Given the description of an element on the screen output the (x, y) to click on. 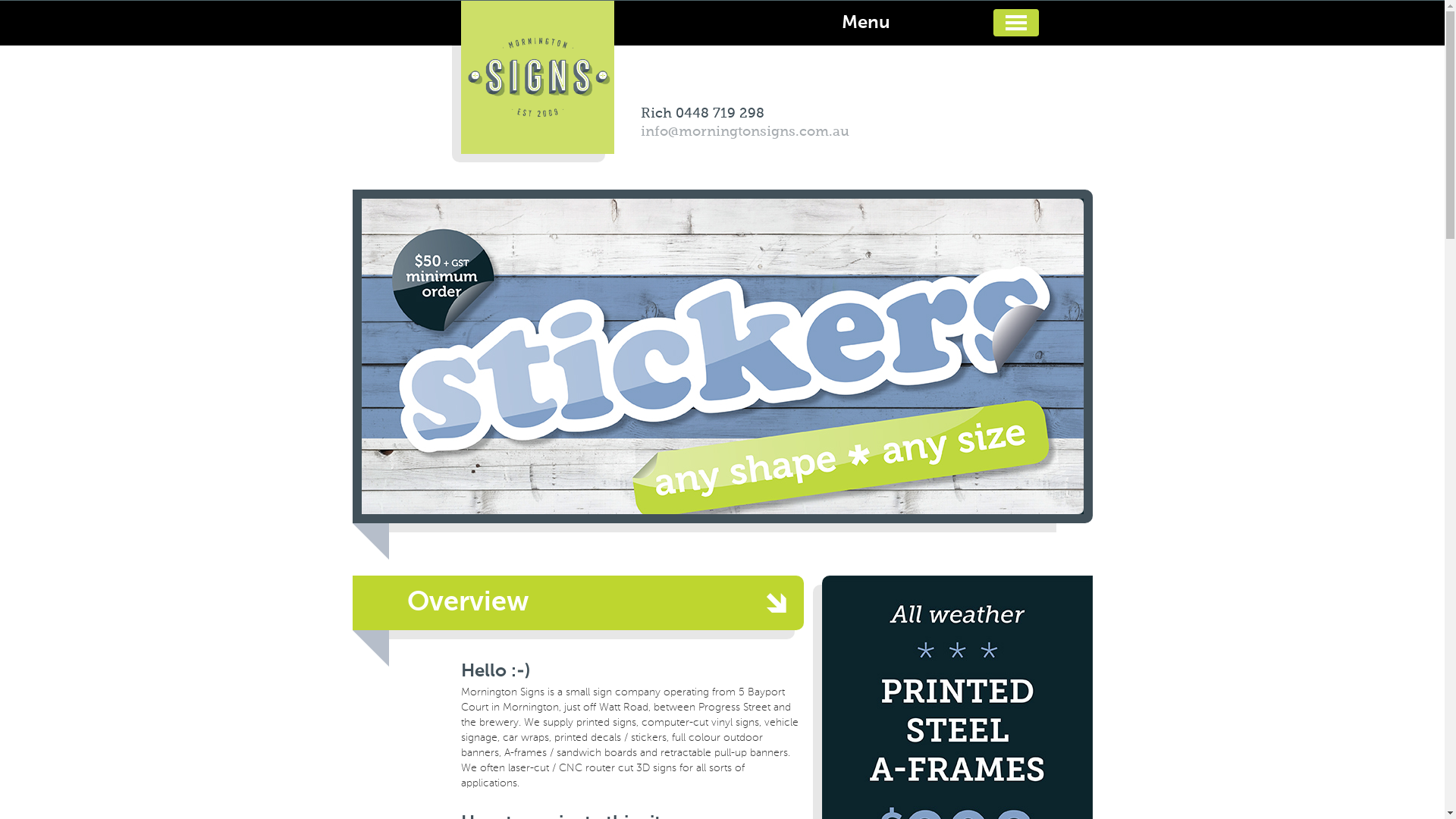
info@morningtonsigns.com.au Element type: text (744, 131)
Rich 0448 719 298 Element type: text (701, 113)
